Given the description of an element on the screen output the (x, y) to click on. 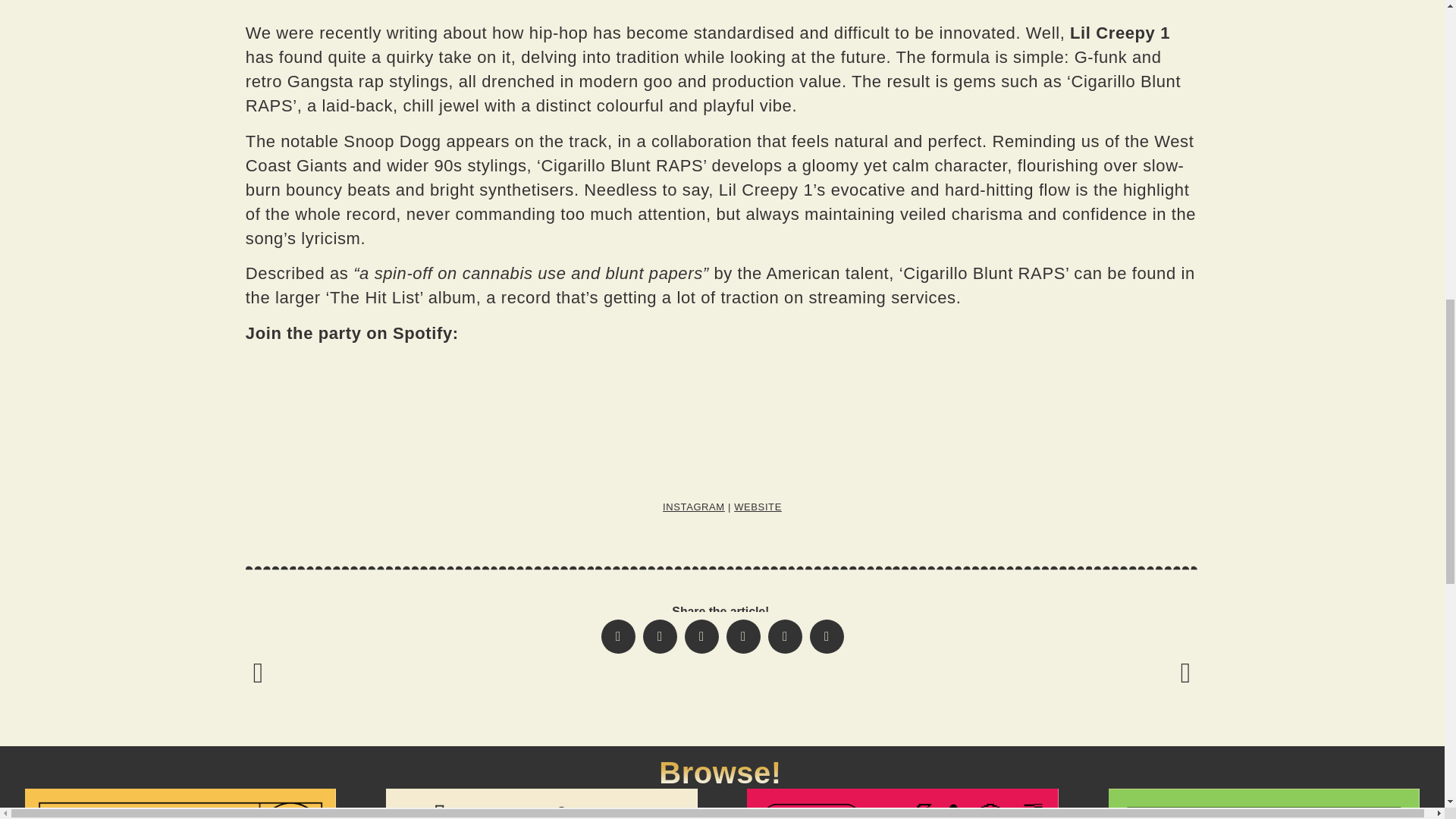
WEBSITE (757, 506)
INSTAGRAM (693, 506)
Spotify Embed: Cigarillo Blunt RAPS (722, 413)
